Given the description of an element on the screen output the (x, y) to click on. 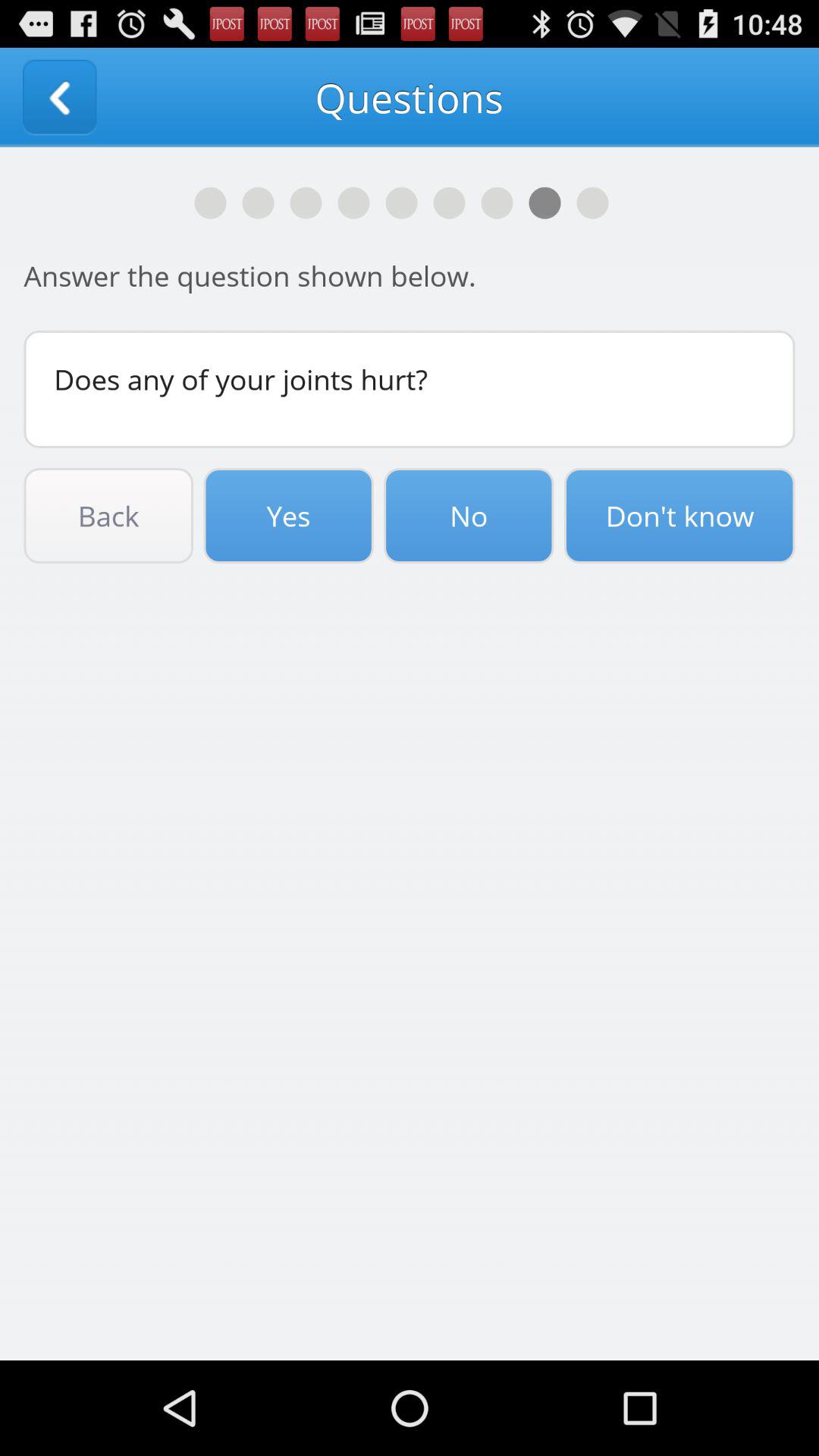
go back (59, 97)
